Given the description of an element on the screen output the (x, y) to click on. 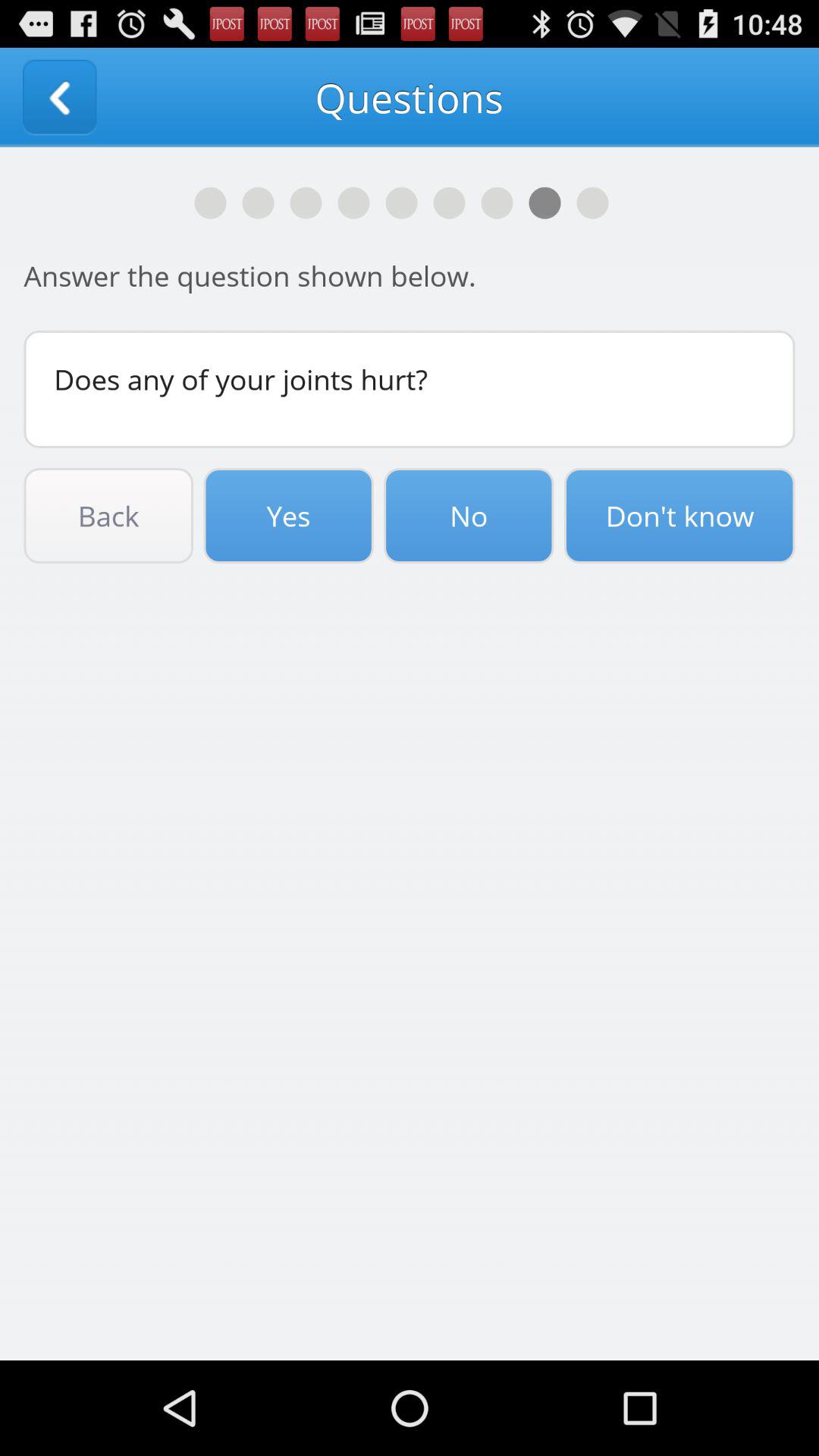
go back (59, 97)
